Given the description of an element on the screen output the (x, y) to click on. 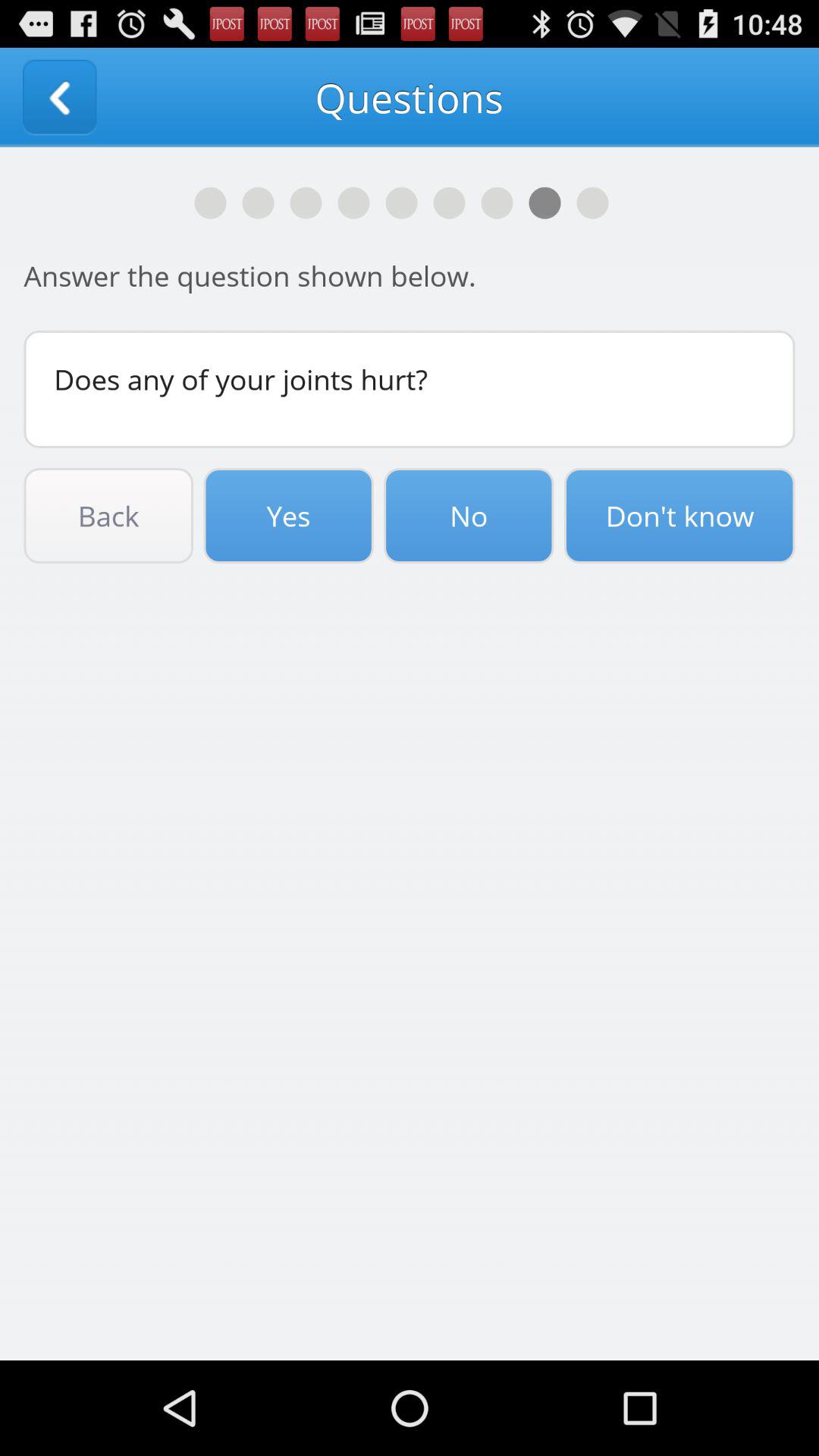
go back (59, 97)
